Given the description of an element on the screen output the (x, y) to click on. 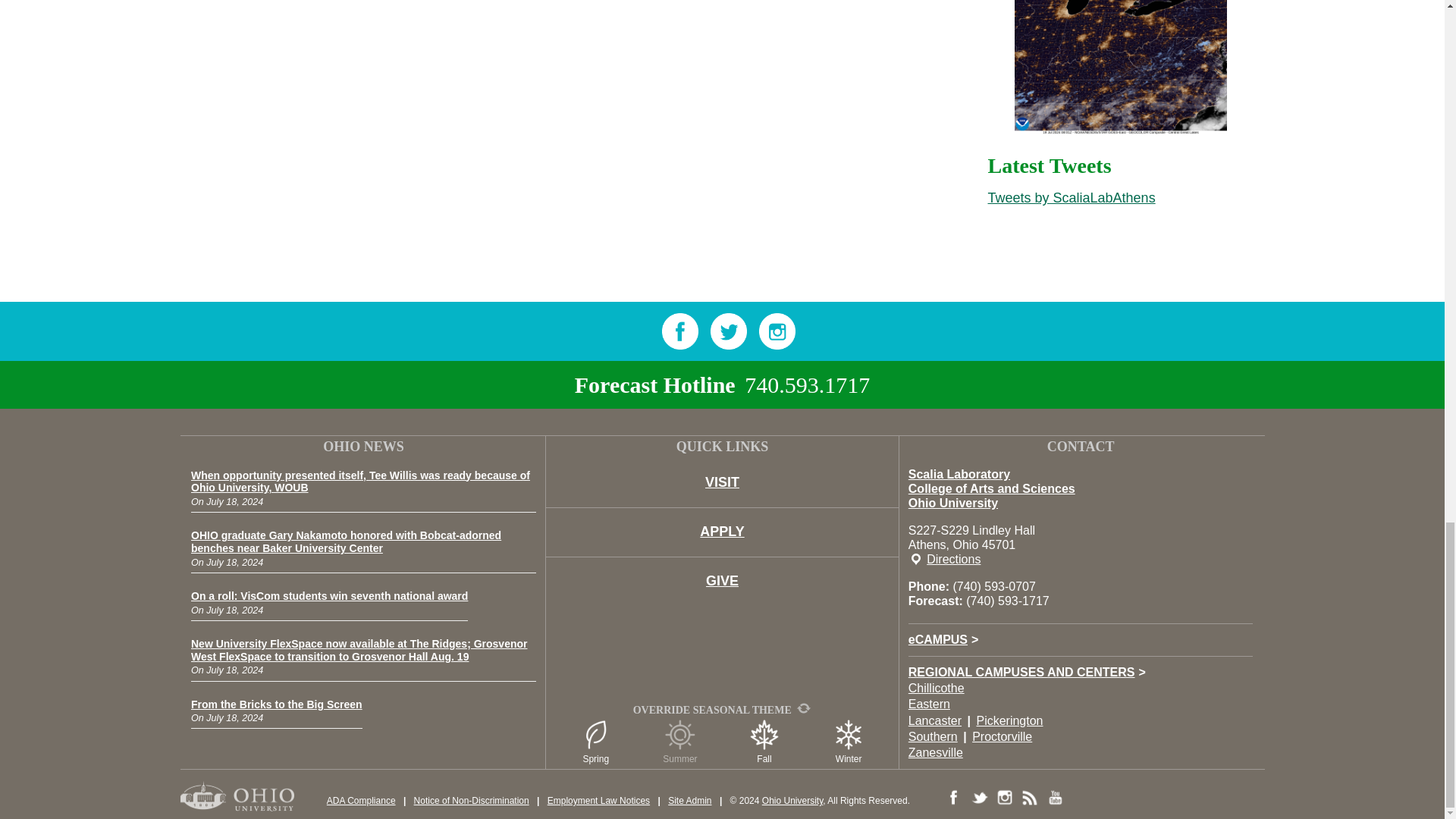
Visit our Facebook!  (679, 330)
Visit our Twitter!  (727, 330)
